Given the description of an element on the screen output the (x, y) to click on. 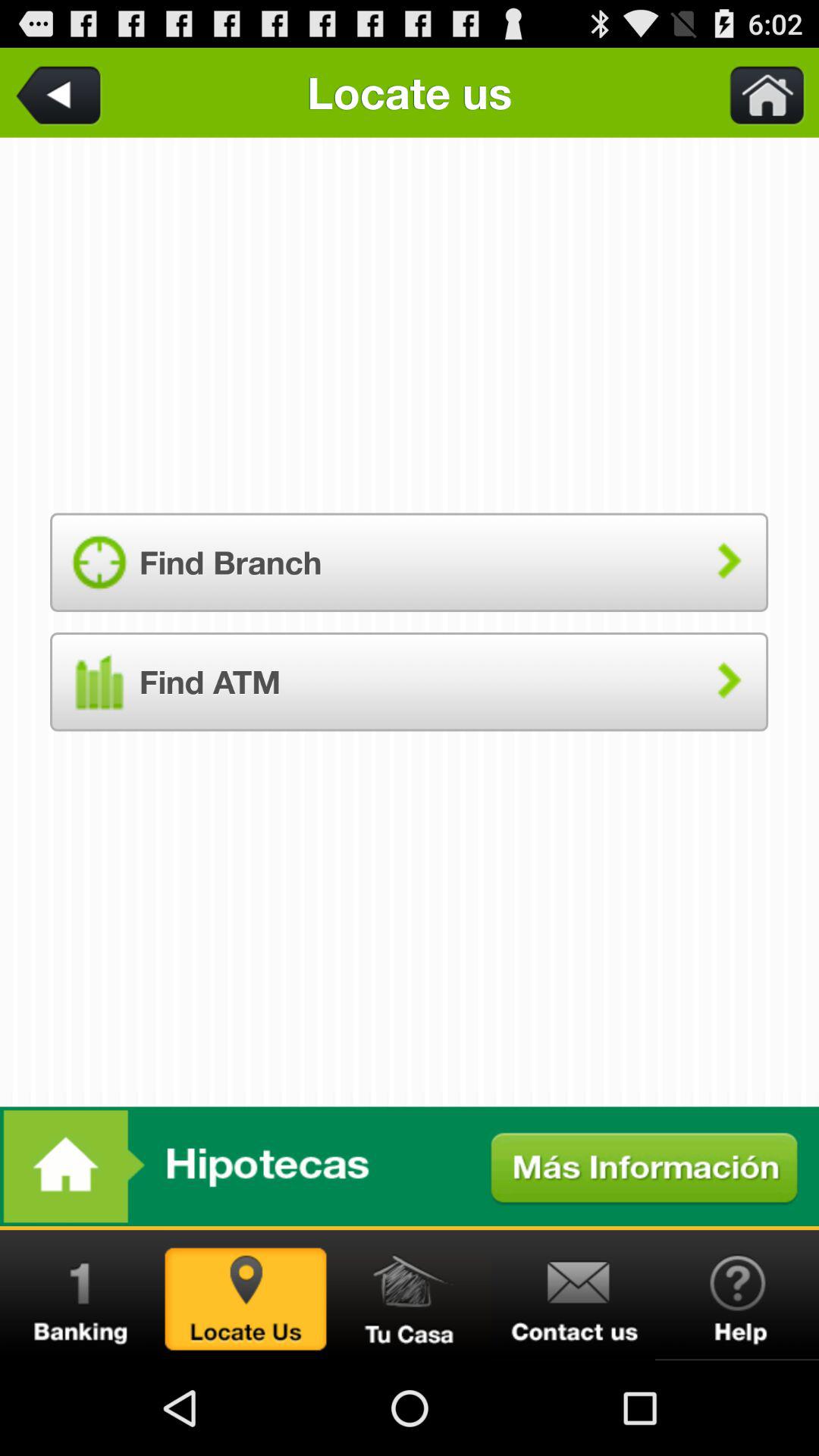
contact bank (573, 1295)
